Given the description of an element on the screen output the (x, y) to click on. 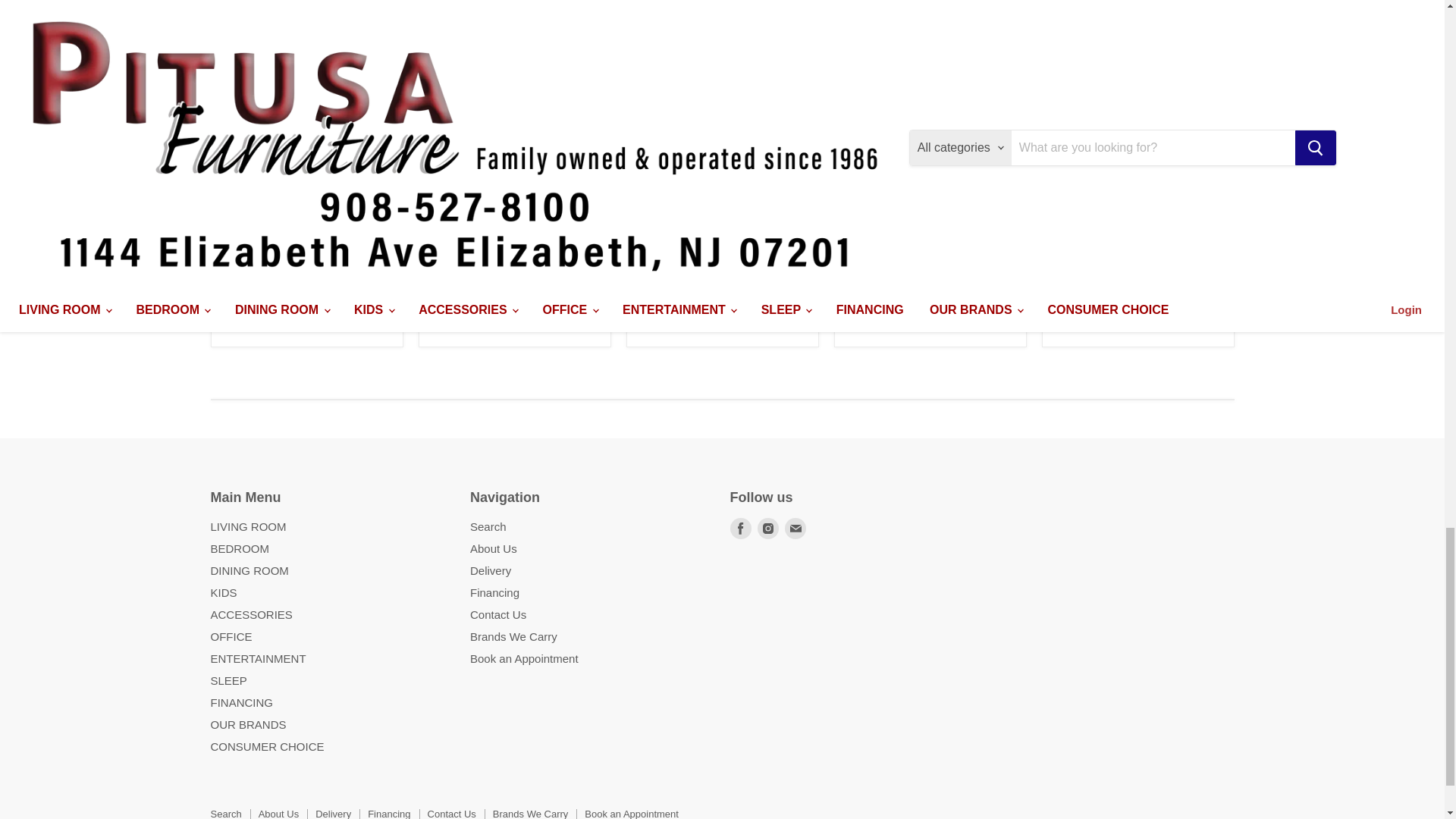
ACME East (663, 217)
Ashley Furniture (1089, 292)
Ashley Furniture (258, 294)
Ashley Furniture (466, 191)
Facebook (740, 527)
Ashley Furniture (881, 220)
E-mail (794, 527)
Instagram (767, 527)
